Given the description of an element on the screen output the (x, y) to click on. 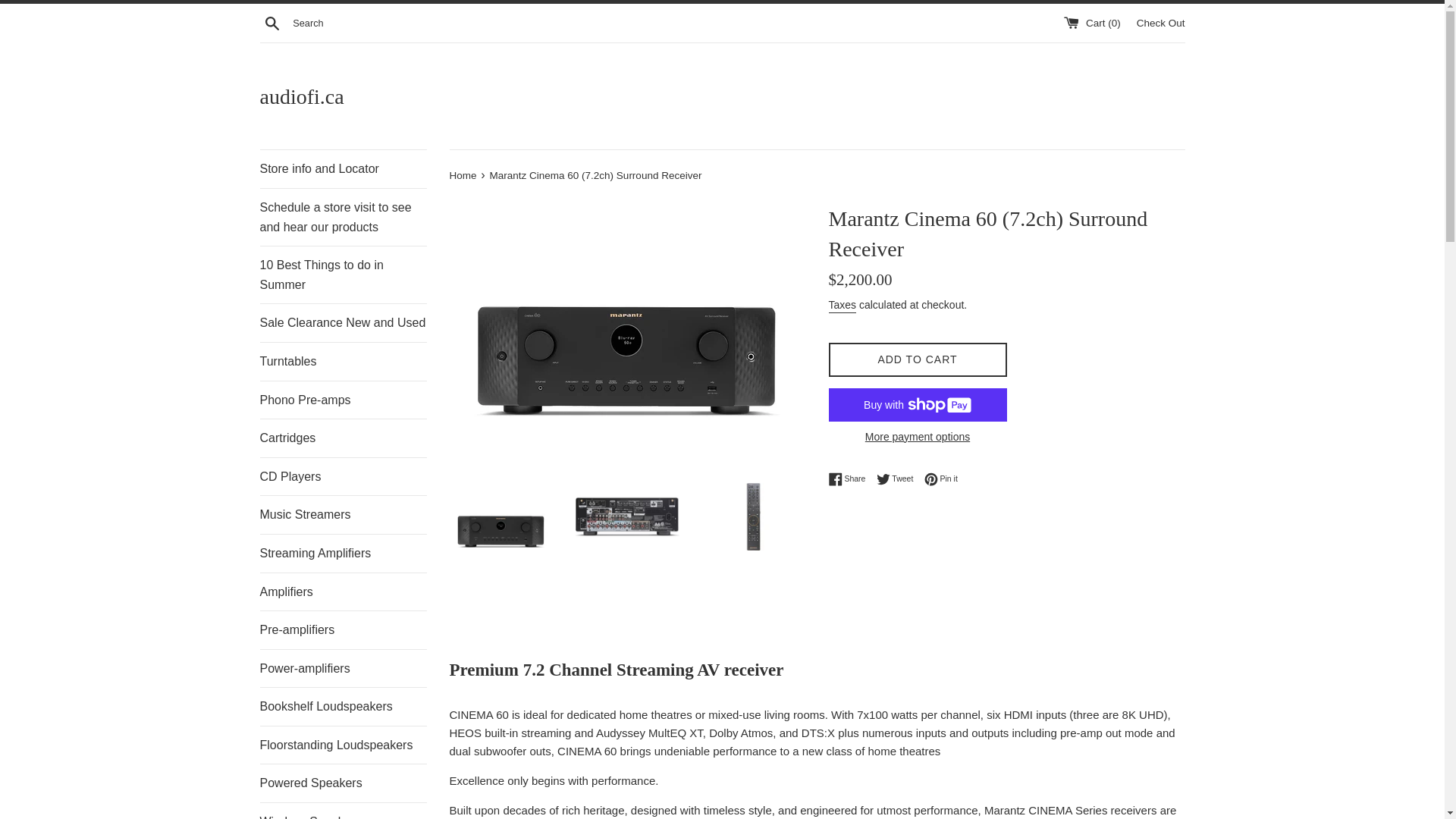
Turntables (342, 361)
Check Out (1161, 21)
Cartridges (342, 438)
10 Best Things to do in Summer (342, 274)
Streaming Amplifiers (342, 553)
Store info and Locator (342, 168)
Phono Pre-amps (342, 400)
Floorstanding Loudspeakers (342, 745)
Back to the frontpage (463, 174)
audiofi.ca (722, 96)
